Given the description of an element on the screen output the (x, y) to click on. 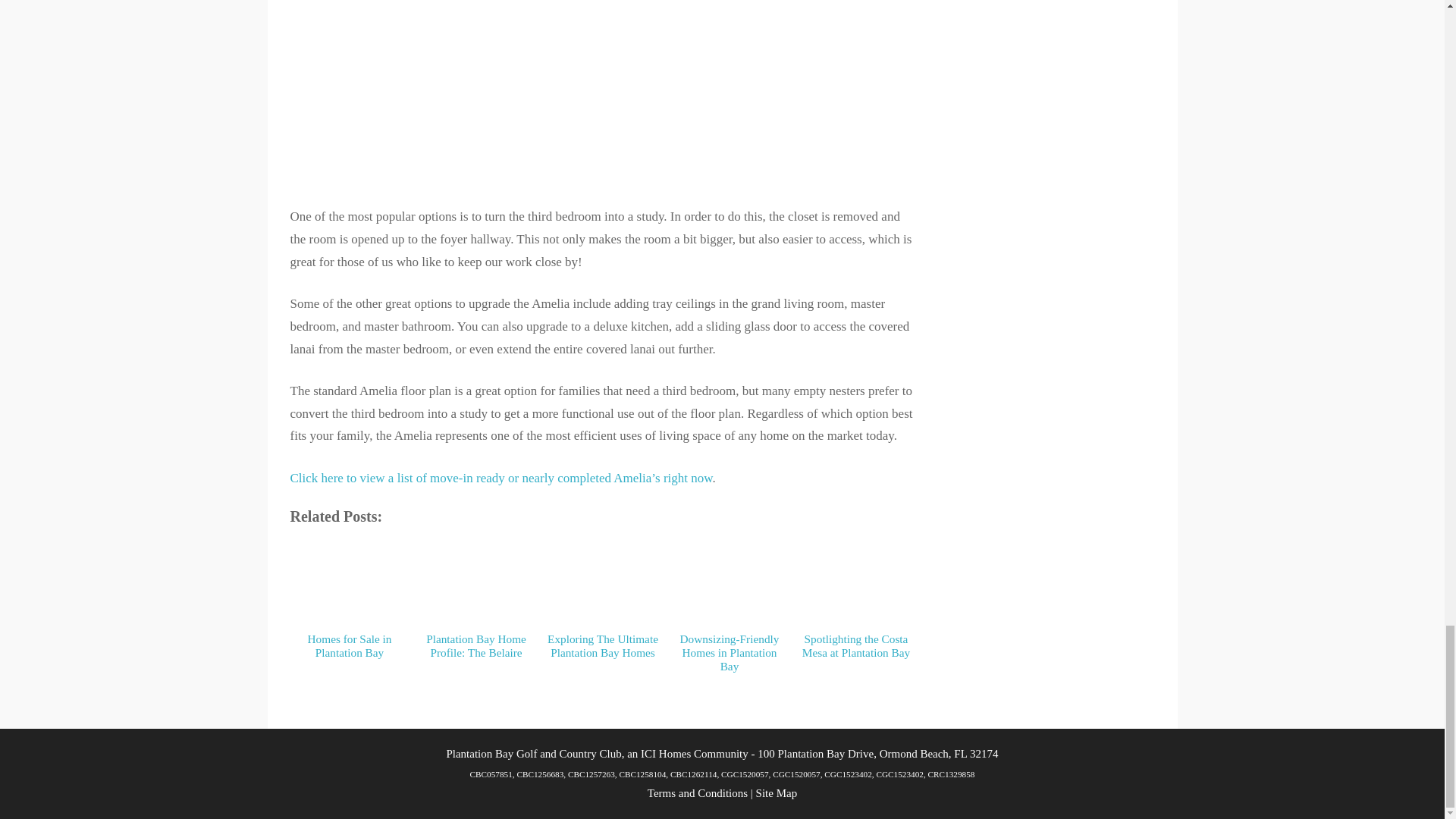
Plantation Bay Home Profile: The Belaire (476, 561)
Plantation Bay Home Profile: The Amelia - amelia study large (602, 91)
Exploring The Ultimate Plantation Bay Homes (603, 555)
Homes for Sale in Plantation Bay (350, 579)
